Given the description of an element on the screen output the (x, y) to click on. 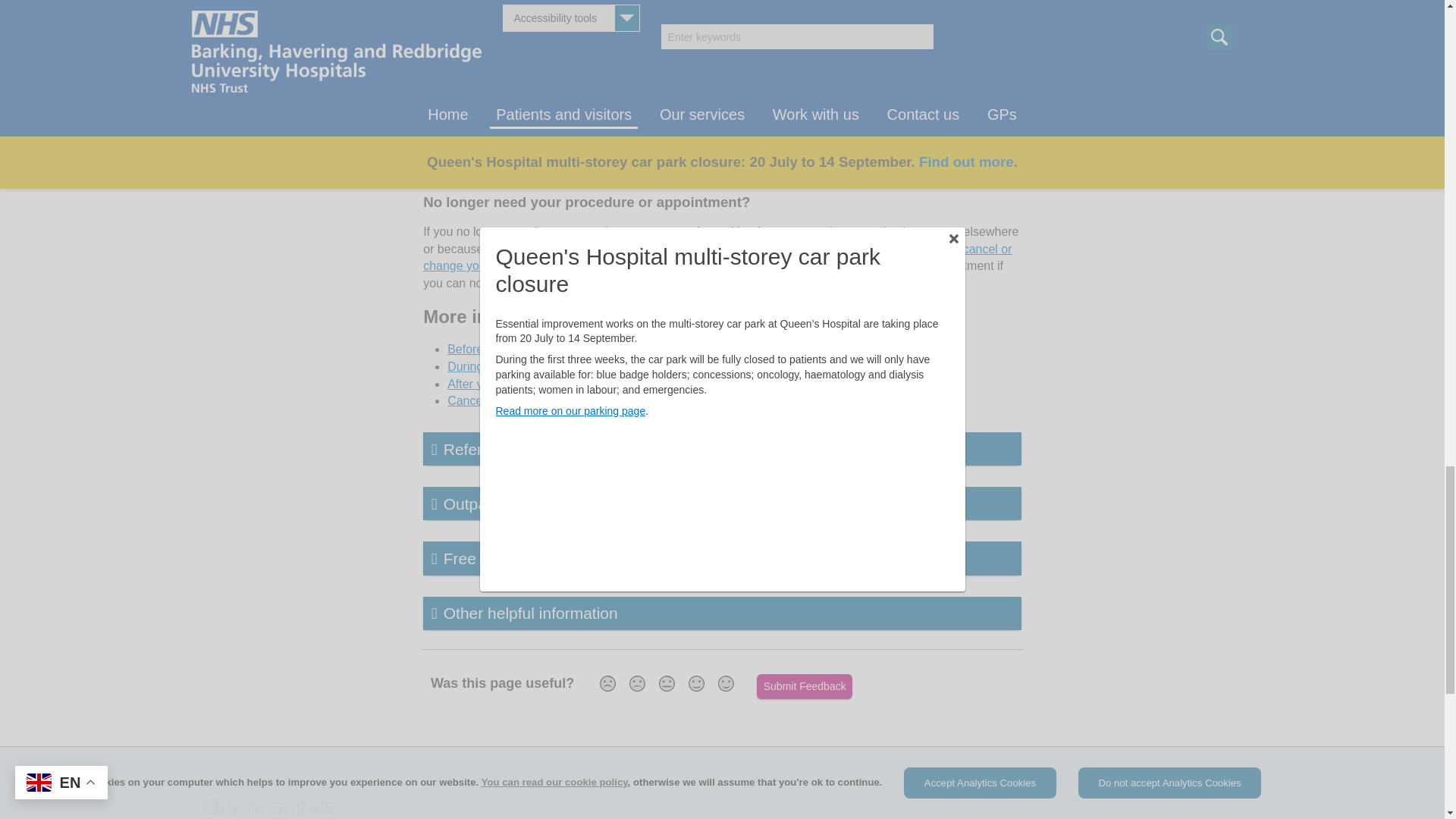
Before your first appointment or test (543, 349)
After your appointment (508, 383)
Before your first appointment or test (543, 349)
Submit Feedback (804, 686)
Outpatient standards (722, 503)
Barking, Dagenham, Havering, Redbridge and Waltham Forest (625, 173)
After your appointment (508, 383)
Cancel your appointment (514, 400)
During your appointment (512, 366)
Free text messaging reminder service (722, 557)
Cancel your appointment (514, 400)
cancel or change your appointment online (717, 256)
During your appointment (512, 366)
